Given the description of an element on the screen output the (x, y) to click on. 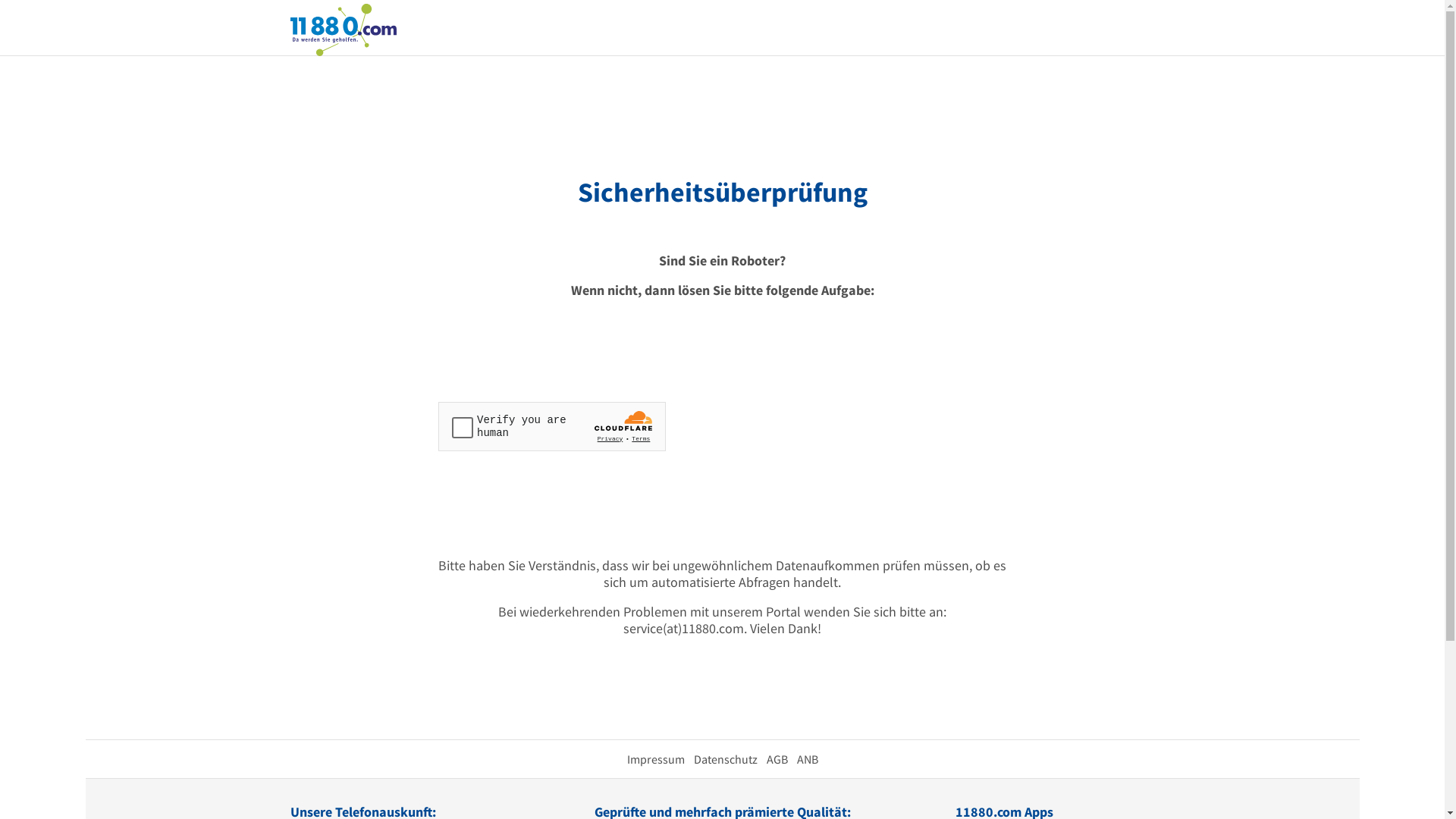
11880.com Element type: hover (342, 28)
Widget containing a Cloudflare security challenge Element type: hover (551, 426)
Datenschutz Element type: text (724, 758)
ANB Element type: text (806, 758)
Impressum Element type: text (655, 758)
AGB Element type: text (776, 758)
